Given the description of an element on the screen output the (x, y) to click on. 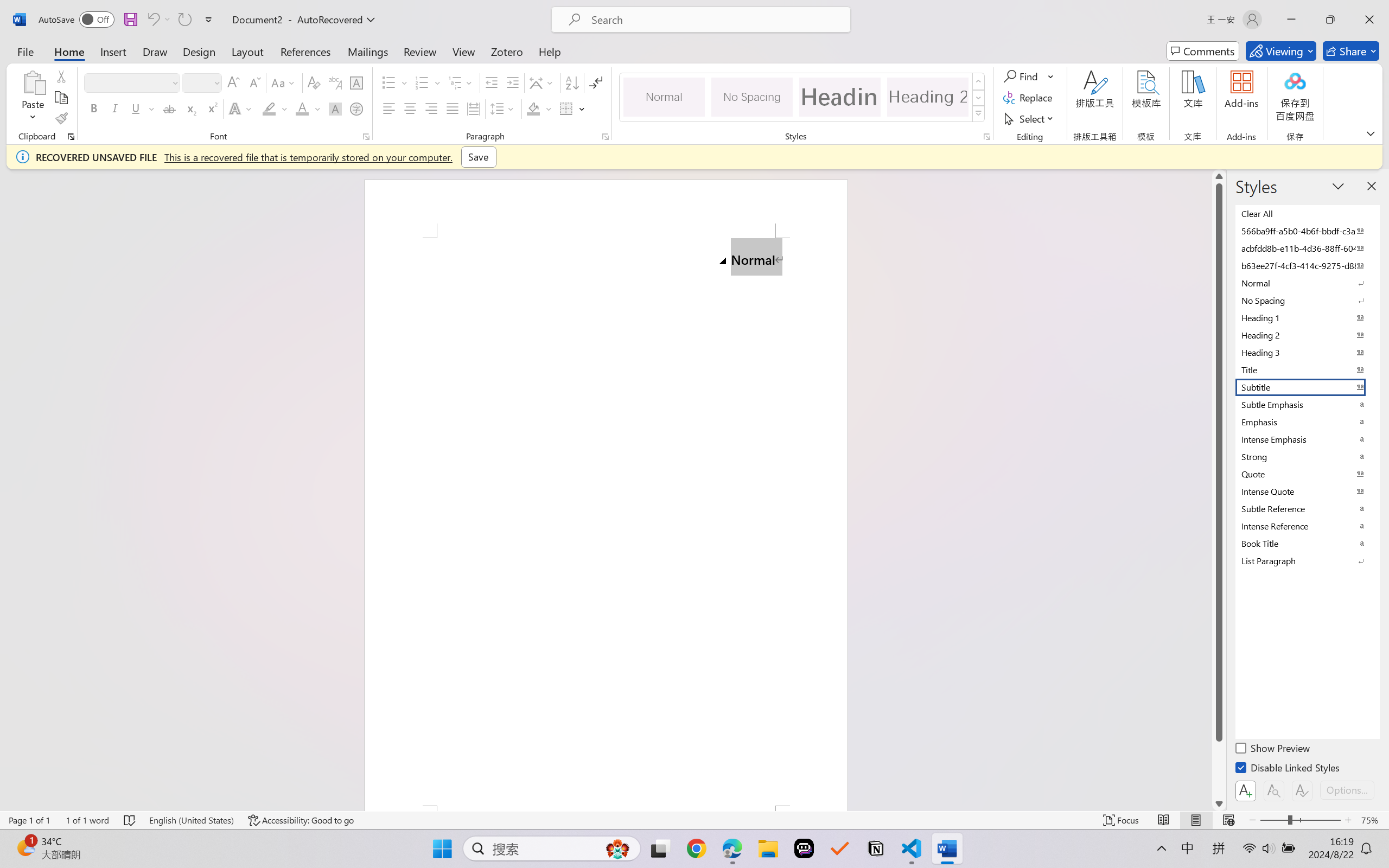
Heading 1 (839, 96)
Subtle Reference (1306, 508)
Title (1306, 369)
Shading (539, 108)
Office Clipboard... (70, 136)
Multilevel List (461, 82)
b63ee27f-4cf3-414c-9275-d88e3f90795e (1306, 265)
Shading RGB(0, 0, 0) (533, 108)
Page 1 content (605, 521)
